Given the description of an element on the screen output the (x, y) to click on. 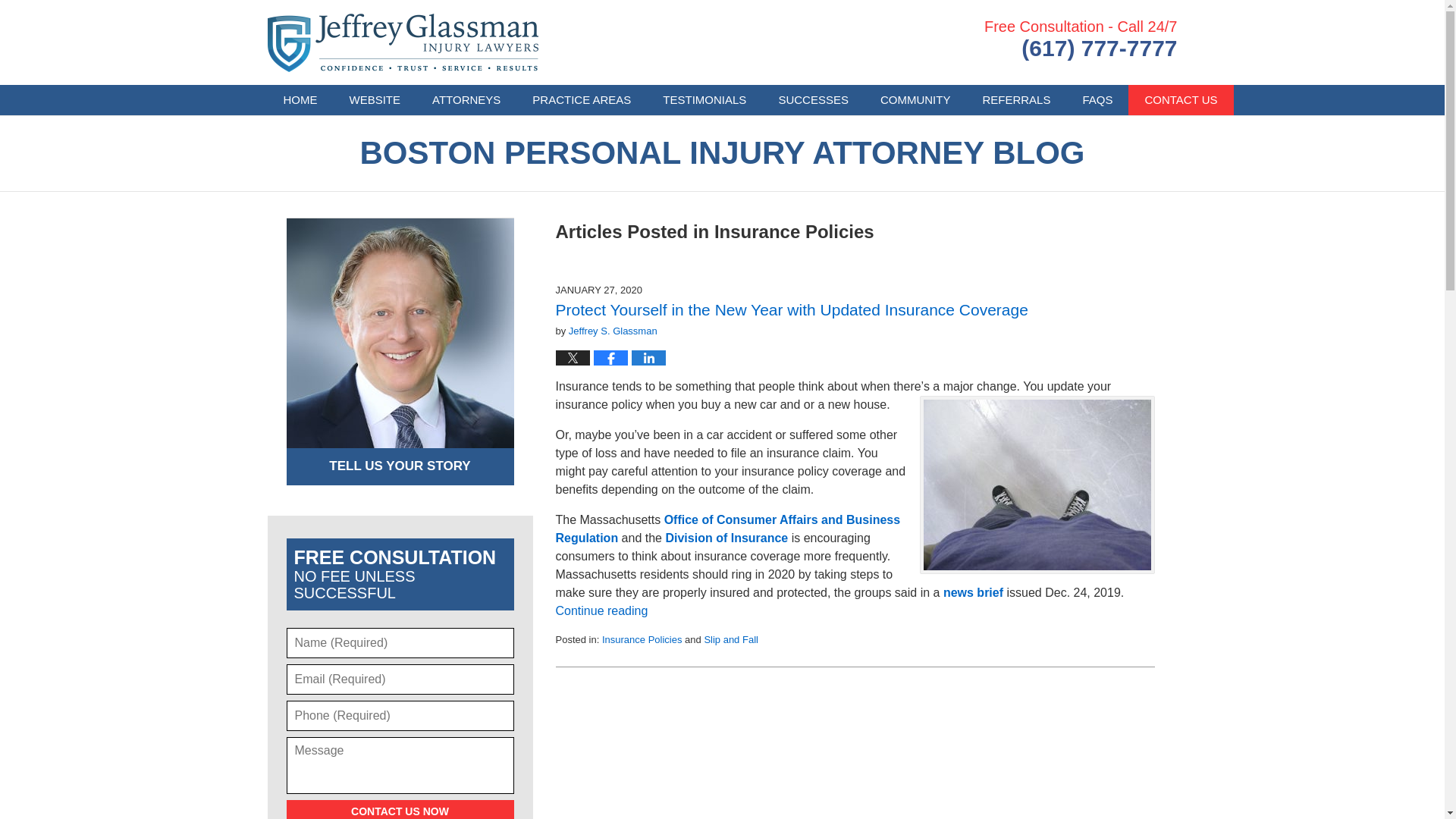
REFERRALS (1015, 100)
COMMUNITY (915, 100)
View all posts in Insurance Policies (642, 639)
CONTACT US NOW (399, 809)
Division of Insurance (726, 537)
Jeffrey S. Glassman (613, 330)
TESTIMONIALS (703, 100)
SUCCESSES (812, 100)
PRACTICE AREAS (581, 100)
Slip and Fall (730, 639)
Boston Personal Injury Attorney Blog (401, 42)
WEBSITE (374, 100)
View all posts in Slip and Fall (730, 639)
Insurance Policies (642, 639)
